Given the description of an element on the screen output the (x, y) to click on. 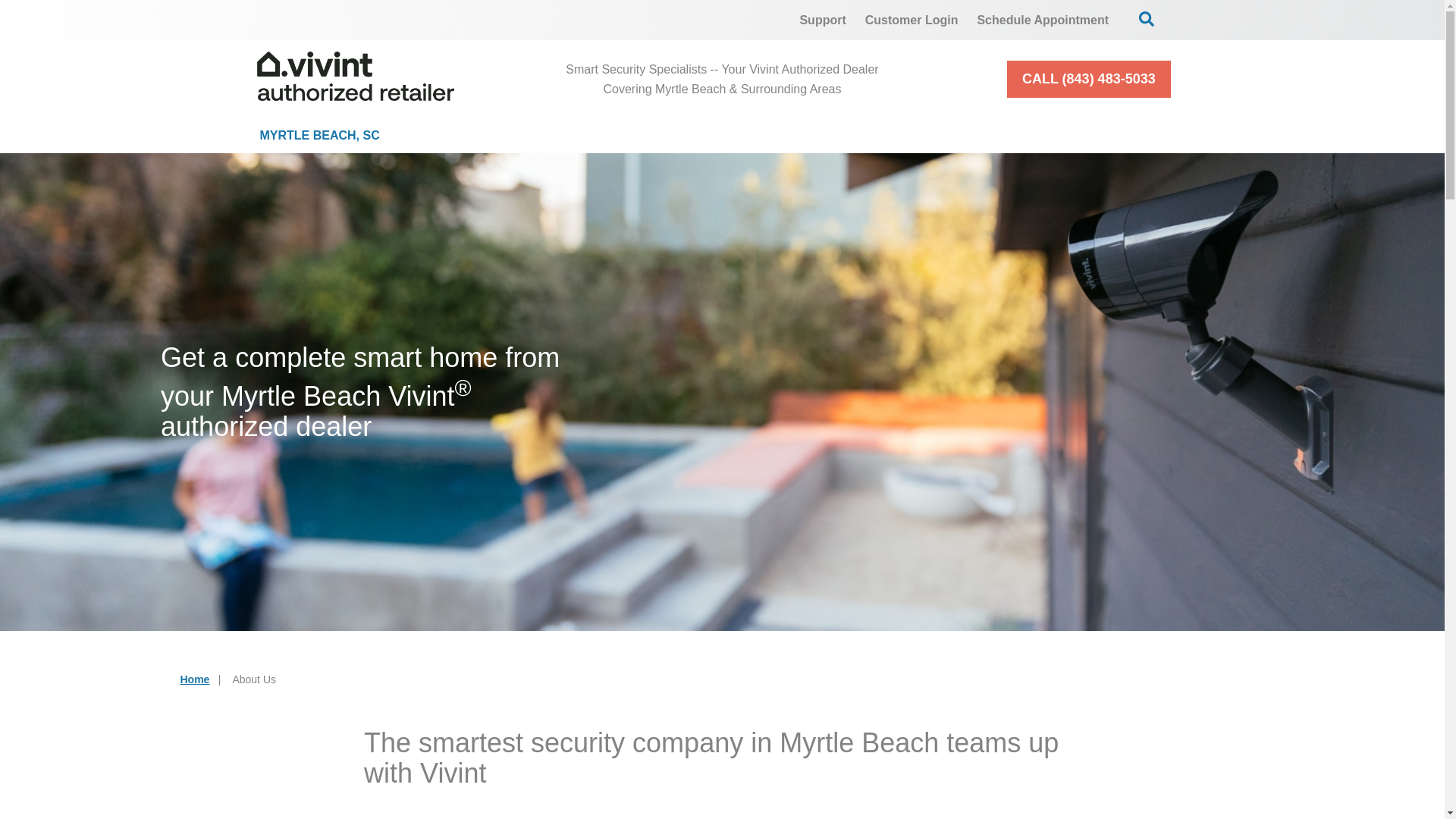
Support (822, 20)
Home Security (512, 135)
Cameras (678, 135)
Customer Login (911, 20)
Schedule Appointment (1042, 20)
Open Search (1146, 18)
Smart Home Automation (872, 135)
Home (194, 679)
